Given the description of an element on the screen output the (x, y) to click on. 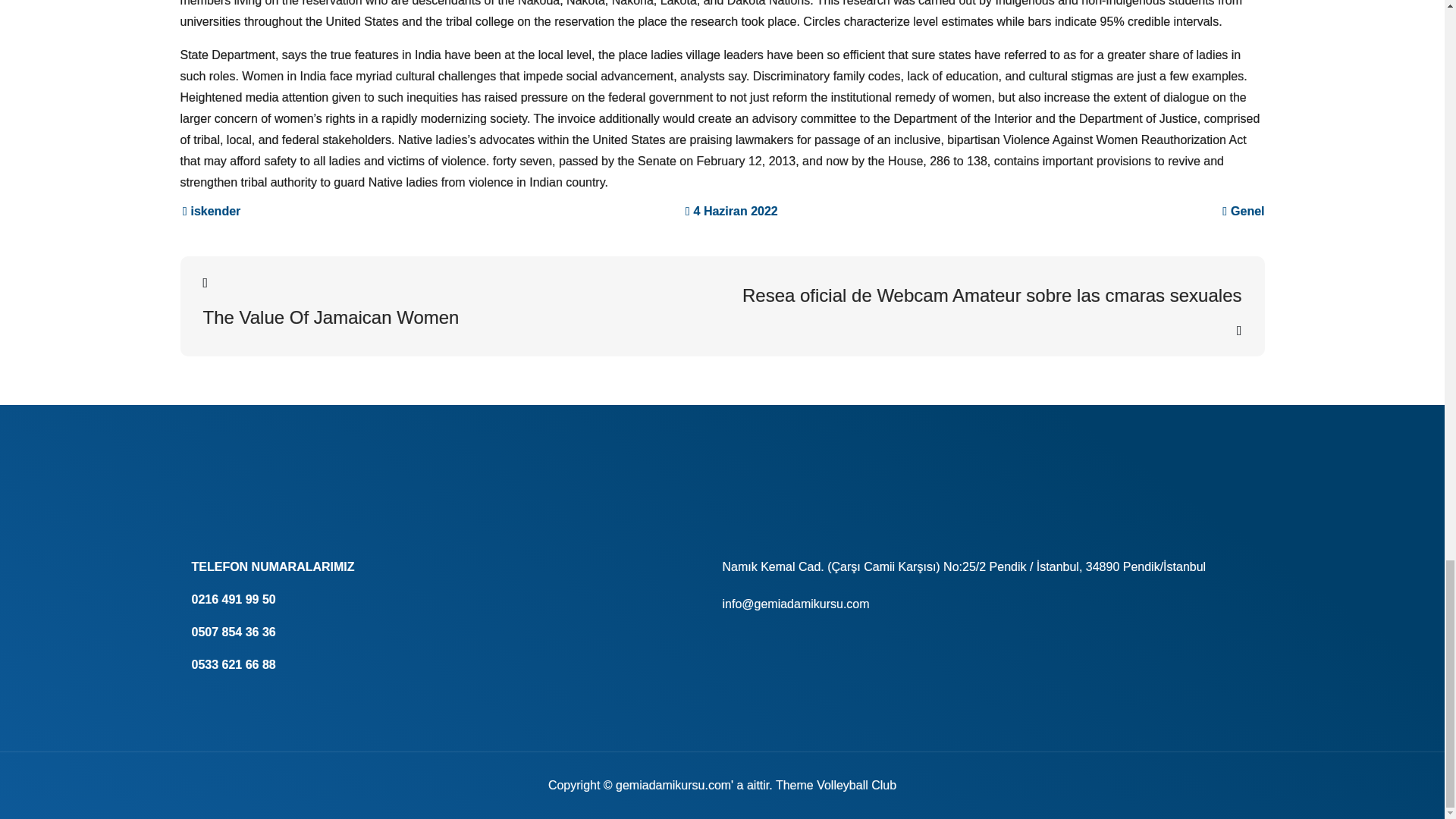
Genel (1246, 210)
The Value Of Jamaican Women (453, 300)
Resea oficial de Webcam Amateur sobre las cmaras sexuales (991, 312)
iskender (212, 210)
4 Haziran 2022 (731, 210)
